Given the description of an element on the screen output the (x, y) to click on. 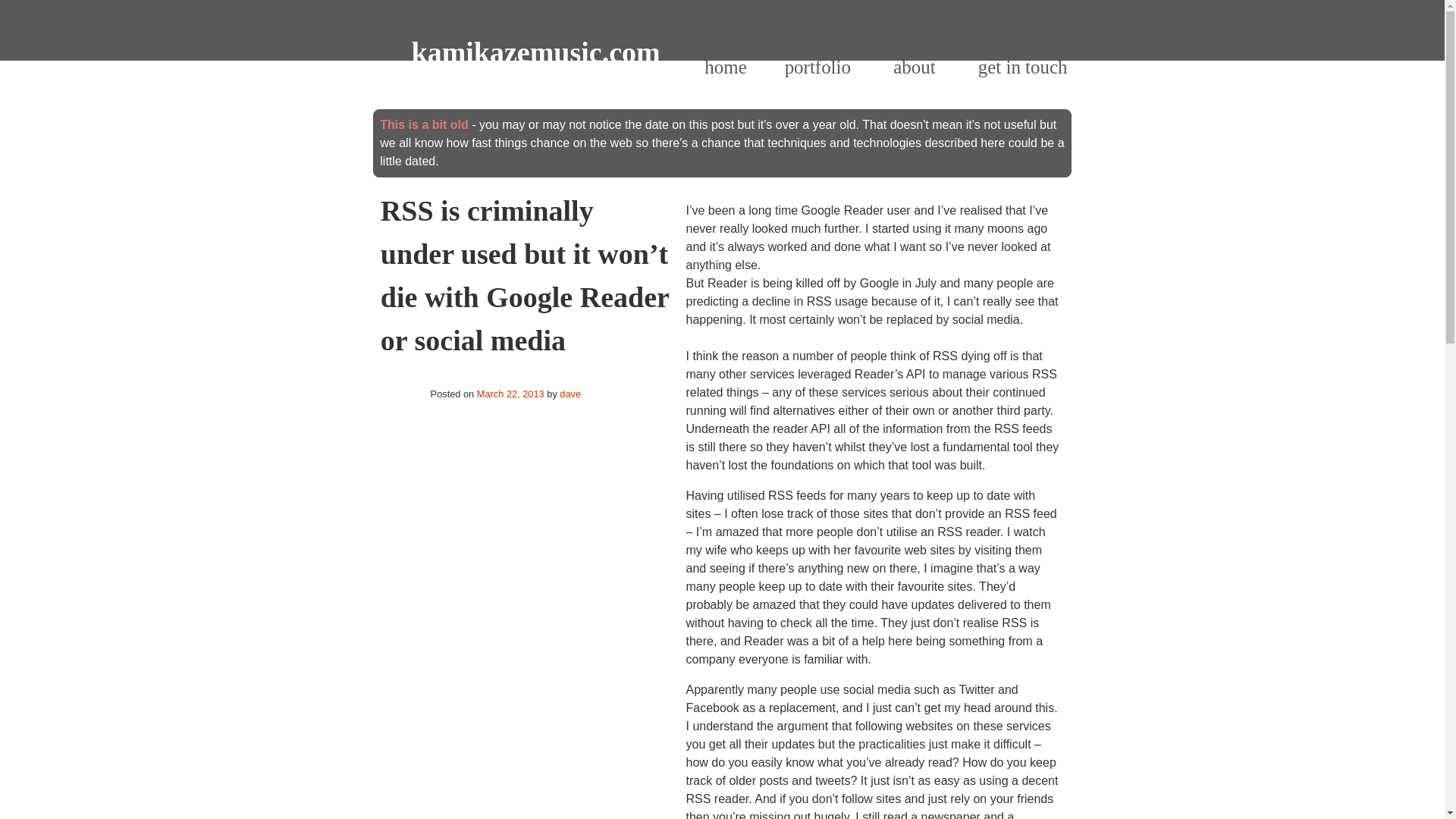
portfolio (817, 67)
about (914, 67)
15:07 (510, 393)
kamikazemusic.com (534, 51)
dave (569, 393)
View all posts by dave (569, 393)
March 22, 2013 (510, 393)
get in touch (1022, 67)
home (725, 67)
KamikazeMusic (534, 51)
